Given the description of an element on the screen output the (x, y) to click on. 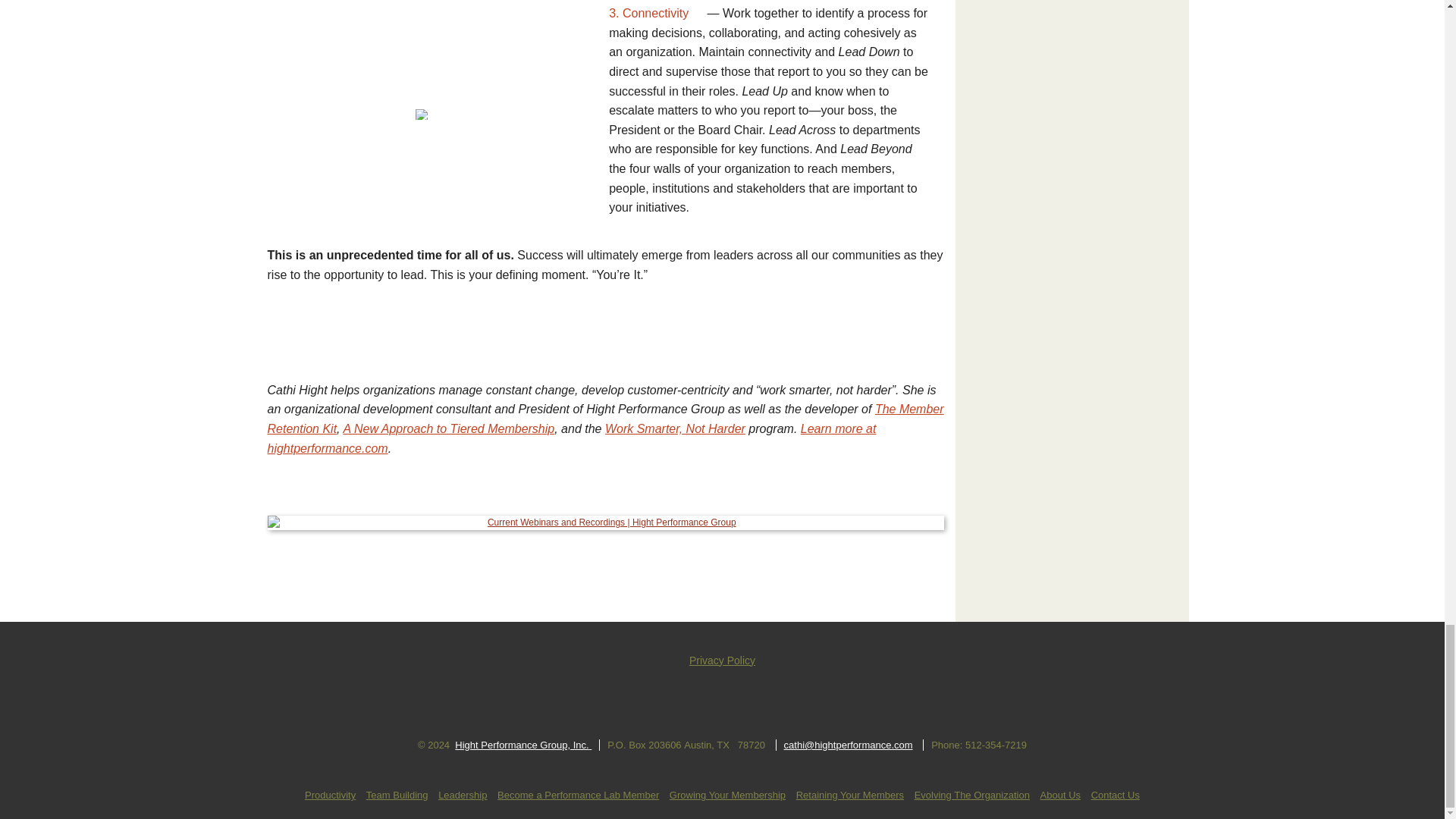
A New Approach to Tiered Membership (448, 428)
Learn more at hightperformance.com (571, 438)
The Member Retention Kit (604, 418)
Work Smarter, Not Harder (675, 428)
